Given the description of an element on the screen output the (x, y) to click on. 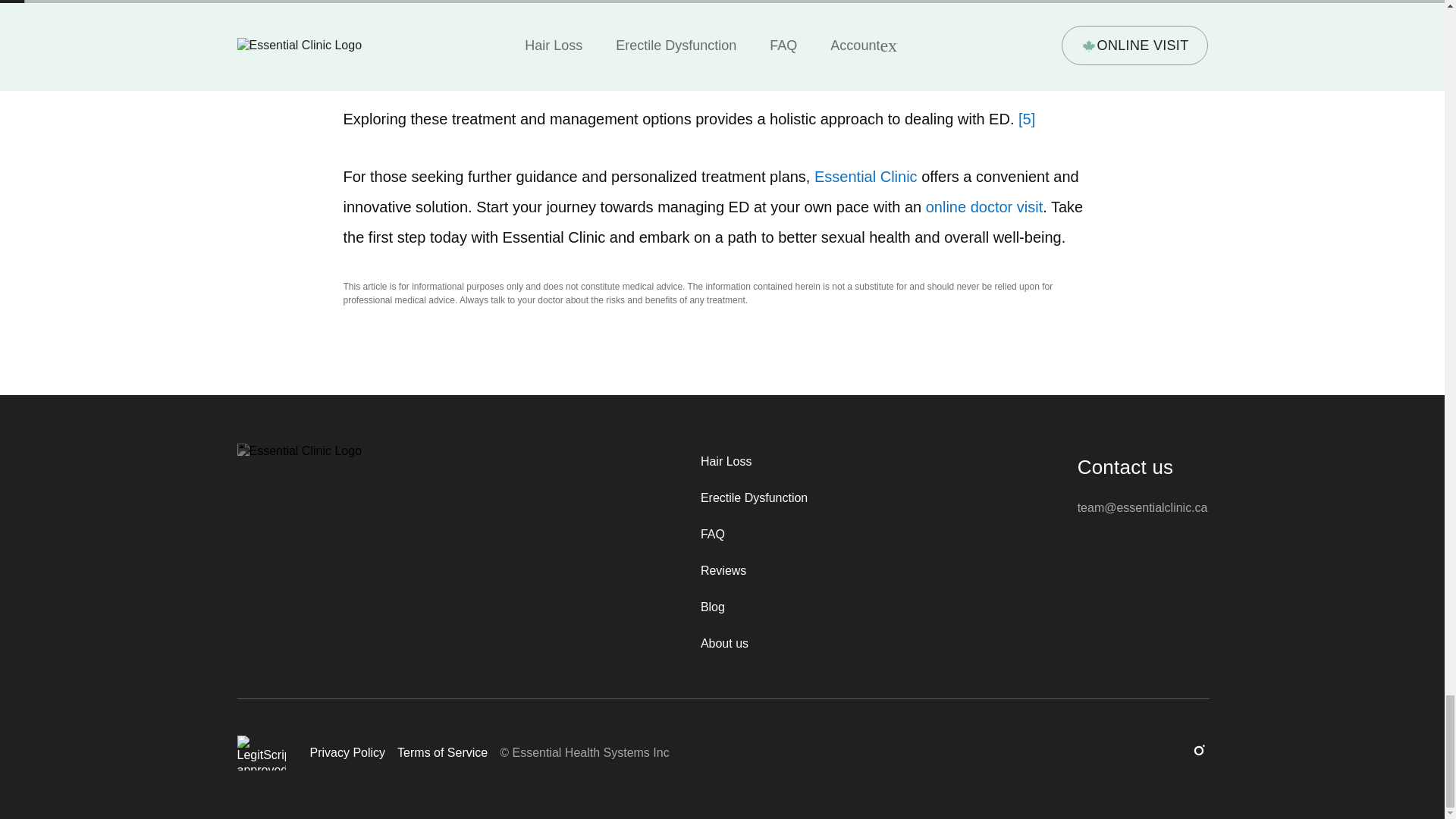
Verify LegitScript Approval (260, 752)
Blog (753, 606)
Essential Clinic (865, 176)
Terms of Service (442, 752)
Erectile Dysfunction (753, 497)
FAQ (753, 534)
About us (753, 643)
Reviews (753, 570)
Hair Loss (753, 461)
online doctor visit (984, 207)
